Given the description of an element on the screen output the (x, y) to click on. 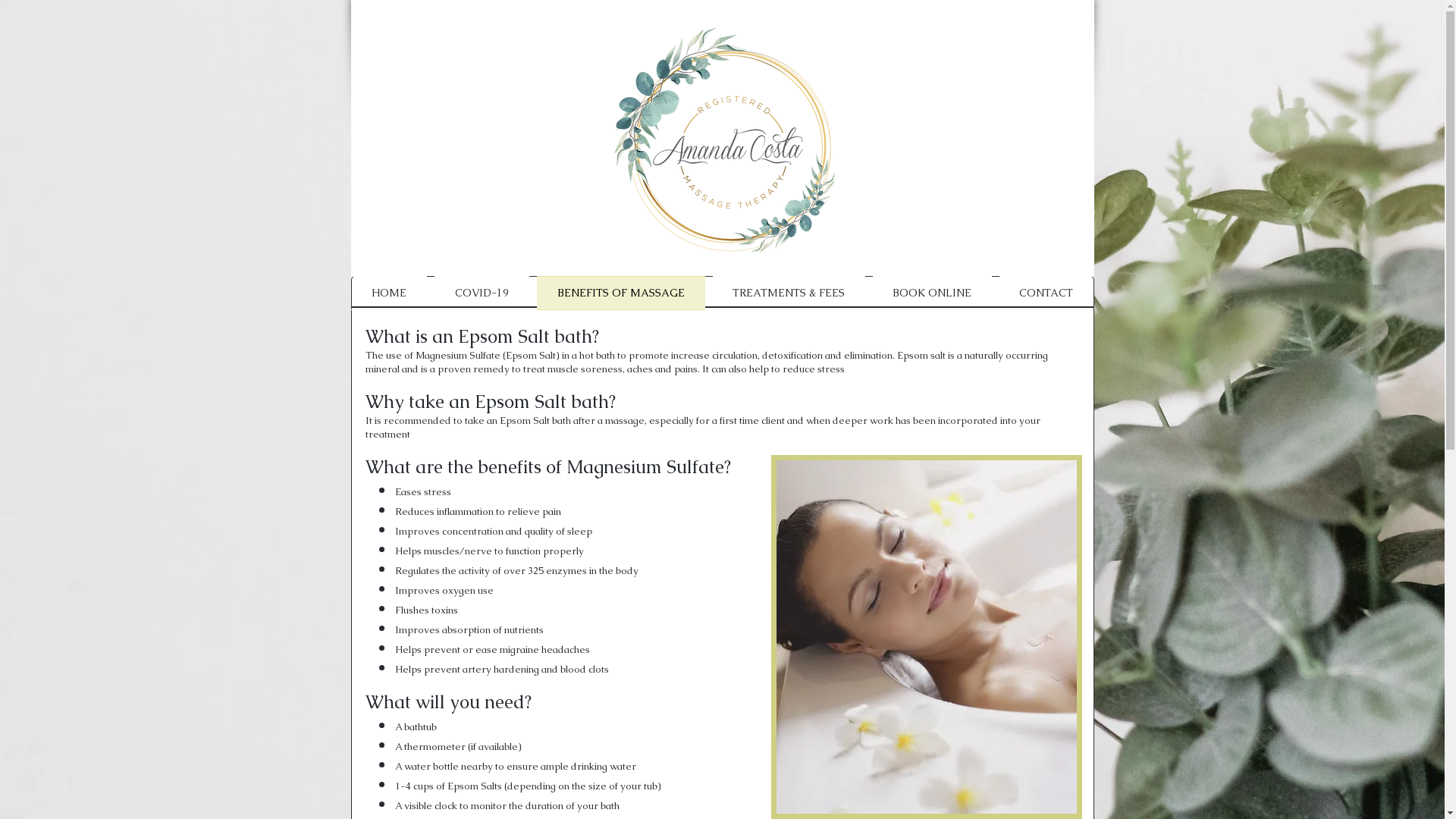
TREATMENTS & FEES Element type: text (788, 293)
CONTACT Element type: text (1043, 293)
BOOK ONLINE Element type: text (932, 293)
BENEFITS OF MASSAGE Element type: text (620, 293)
COVID-19 Element type: text (481, 293)
HOME Element type: text (389, 293)
